Given the description of an element on the screen output the (x, y) to click on. 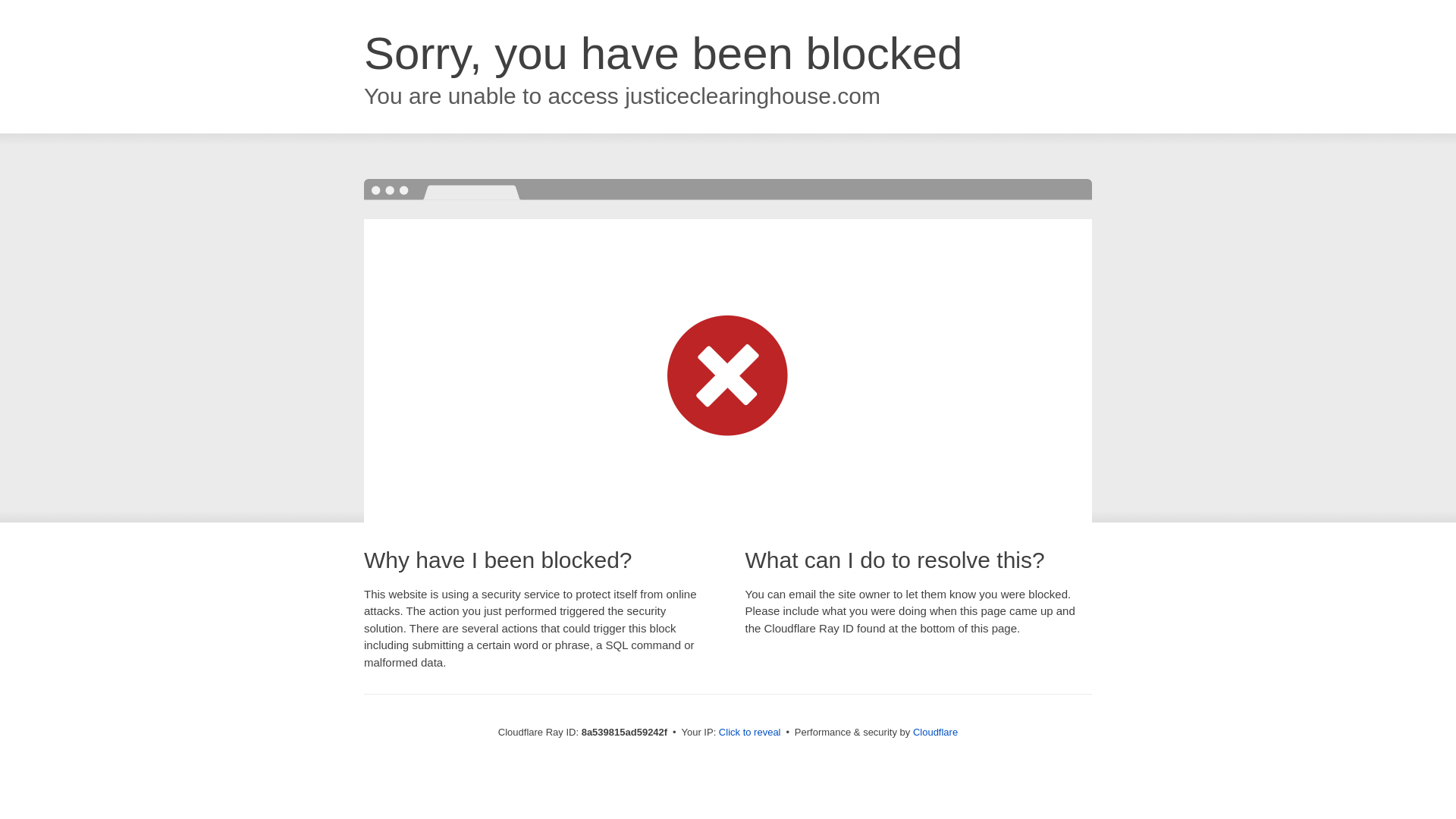
Cloudflare (935, 731)
Click to reveal (749, 732)
